Given the description of an element on the screen output the (x, y) to click on. 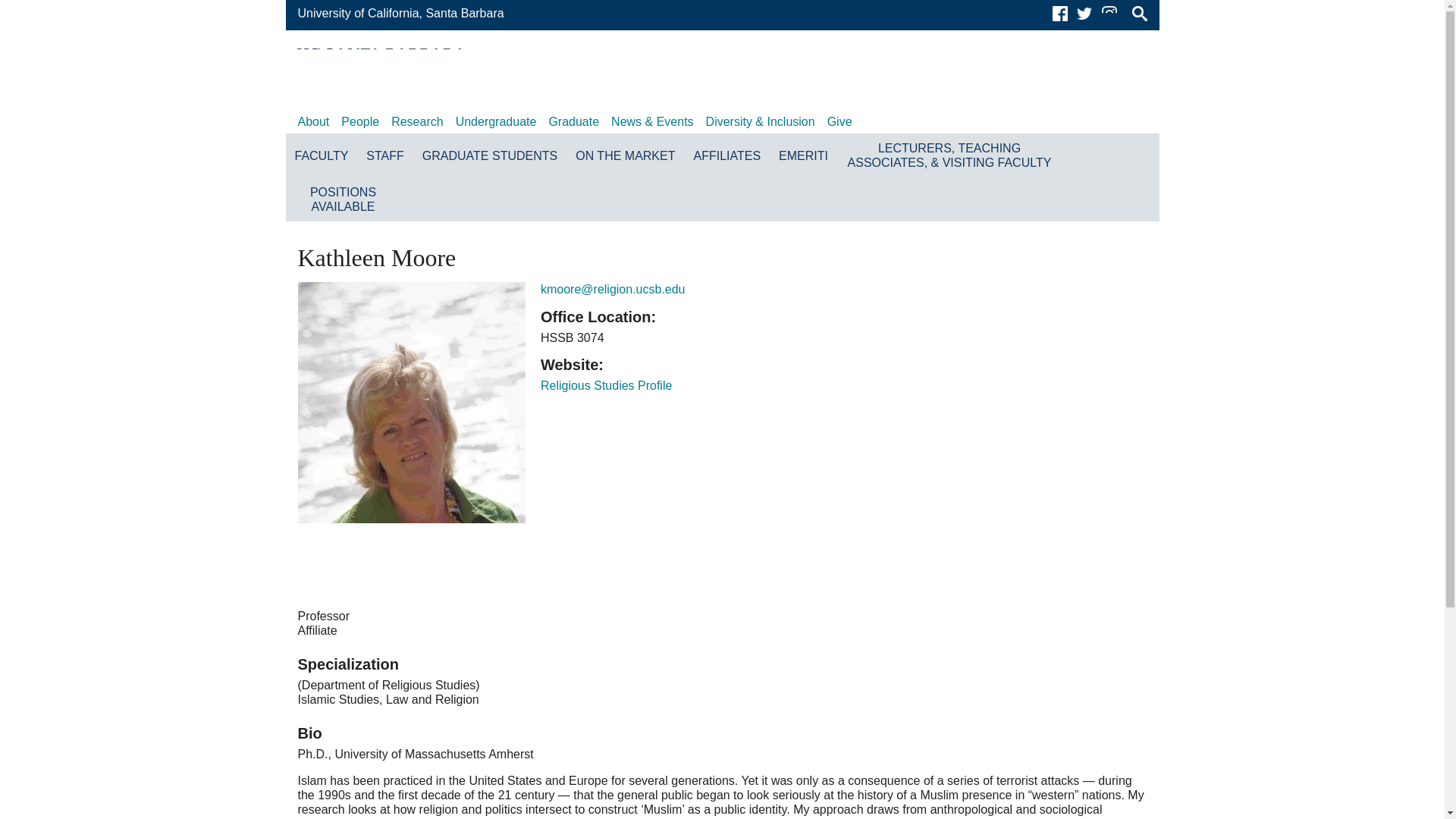
Staff (384, 155)
Positions Available (342, 199)
People (359, 121)
Graduate Students on the Market (625, 155)
AFFILIATES (726, 155)
Research (416, 121)
Graduate Students (489, 155)
Search (1139, 13)
Graduate (573, 121)
University of California, Santa Barbara (400, 12)
